Given the description of an element on the screen output the (x, y) to click on. 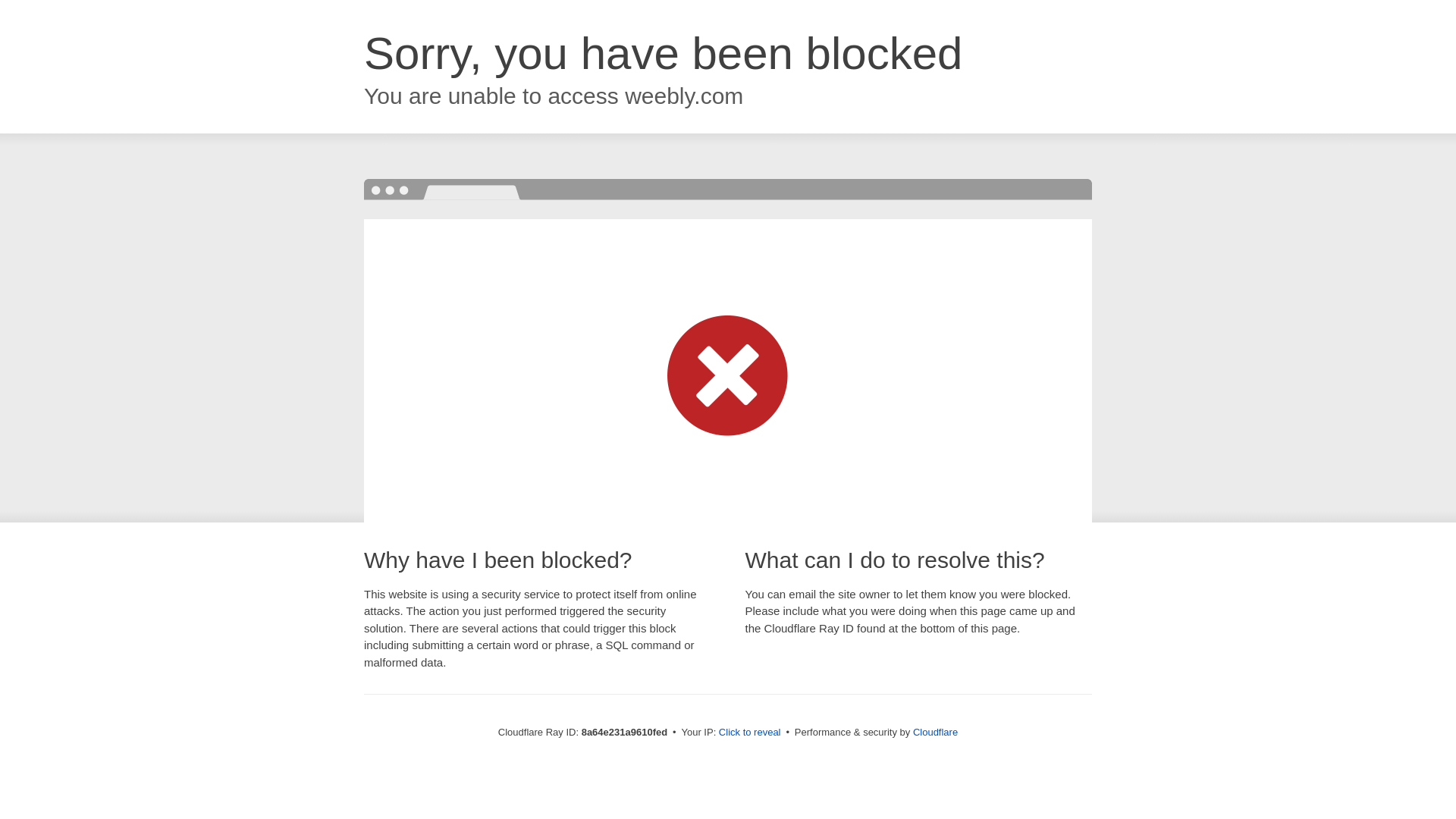
Click to reveal (749, 732)
Cloudflare (935, 731)
